Given the description of an element on the screen output the (x, y) to click on. 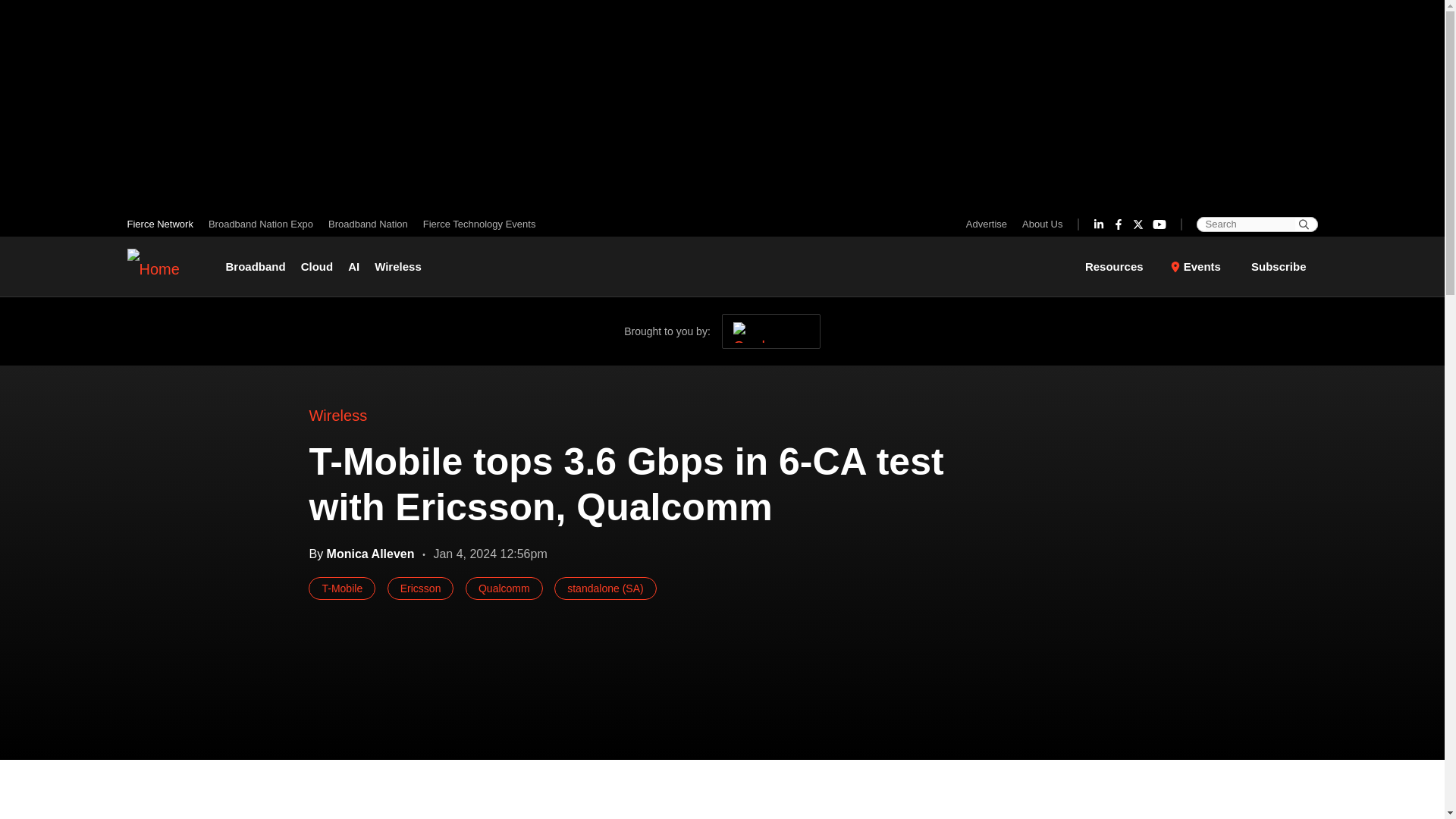
Subscribe (1278, 265)
Wireless (397, 266)
Broadband Nation Expo (260, 224)
Broadband Nation (367, 224)
Fierce Technology Events (474, 224)
Fierce Network (164, 224)
Resources (1122, 266)
About Us (1038, 224)
AI (353, 266)
Advertise (990, 224)
Cloud (317, 266)
Broadband (259, 266)
